Given the description of an element on the screen output the (x, y) to click on. 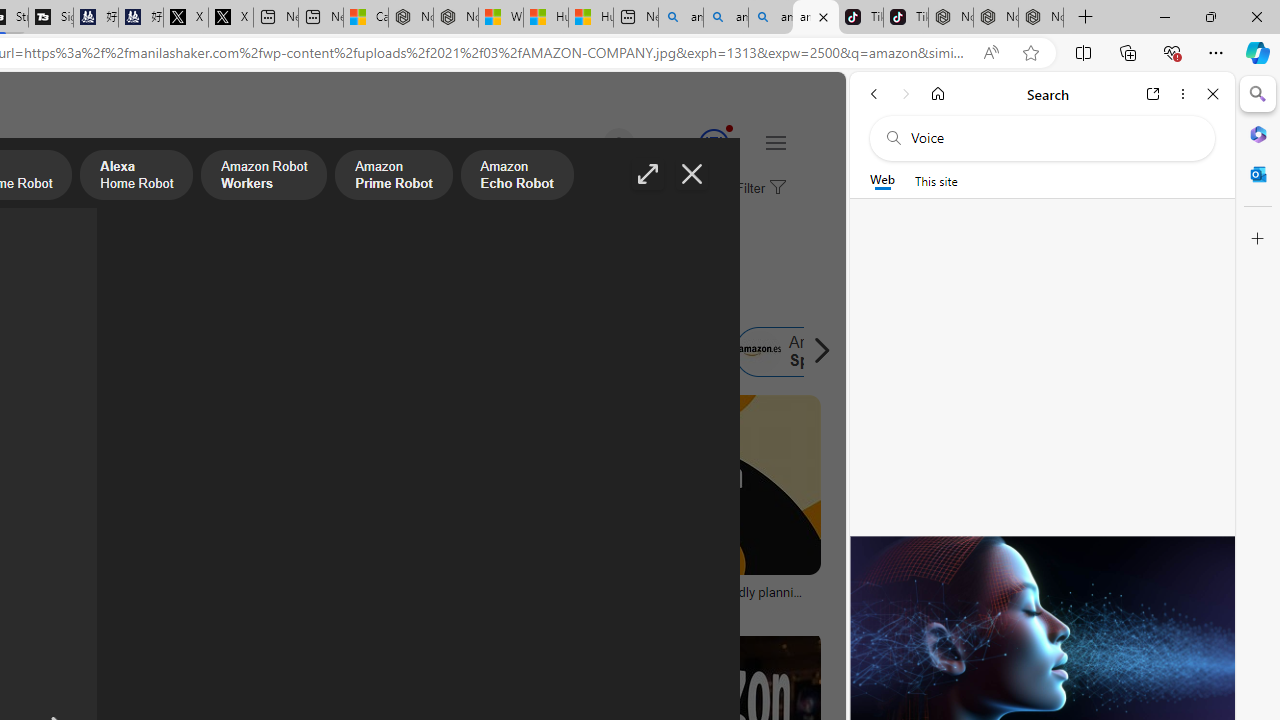
Search the web (1051, 137)
Amazon Forest (517, 351)
Open link in new tab (1153, 93)
downdetector.ae (249, 605)
Amazon Prime Membership (44, 351)
Huge shark washes ashore at New York City beach | Watch (591, 17)
amazon - Search Images (815, 17)
Full screen (648, 173)
theverge.com (599, 605)
